Given the description of an element on the screen output the (x, y) to click on. 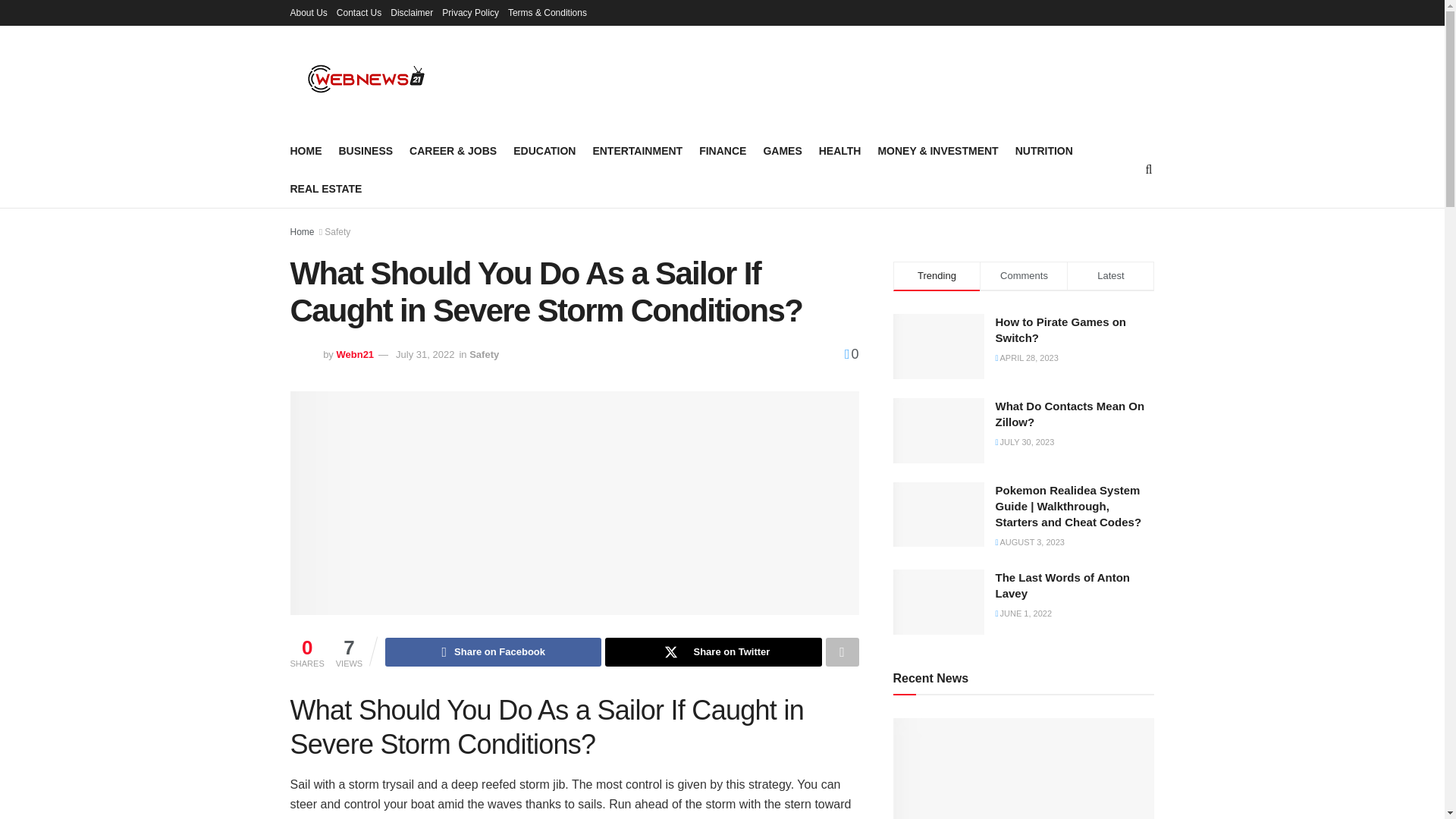
REAL ESTATE (325, 188)
HOME (305, 150)
Disclaimer (411, 12)
Home (301, 231)
NUTRITION (1043, 150)
GAMES (782, 150)
ENTERTAINMENT (637, 150)
Privacy Policy (470, 12)
EDUCATION (544, 150)
July 31, 2022 (425, 354)
Safety (337, 231)
HEALTH (839, 150)
Webn21 (355, 354)
Contact Us (358, 12)
BUSINESS (365, 150)
